Given the description of an element on the screen output the (x, y) to click on. 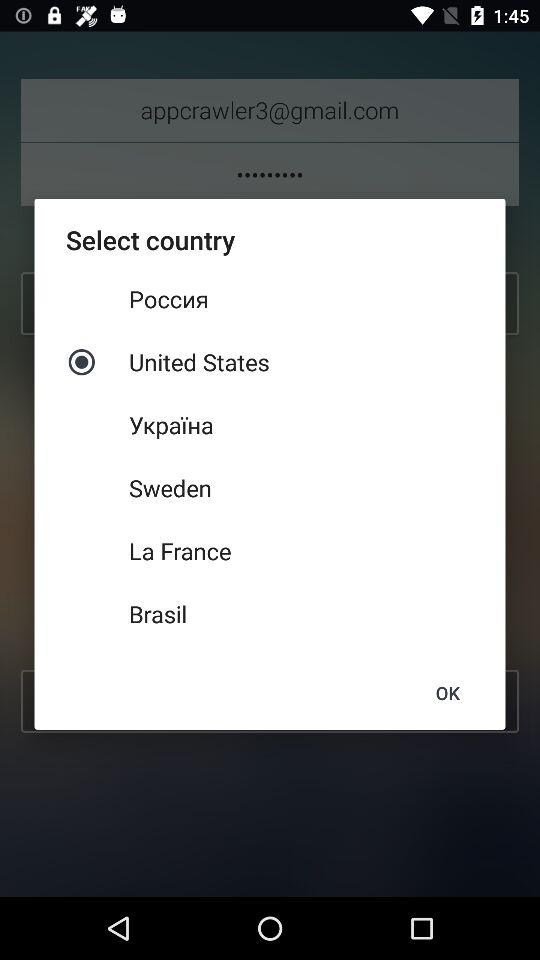
open the ok at the bottom right corner (447, 692)
